Given the description of an element on the screen output the (x, y) to click on. 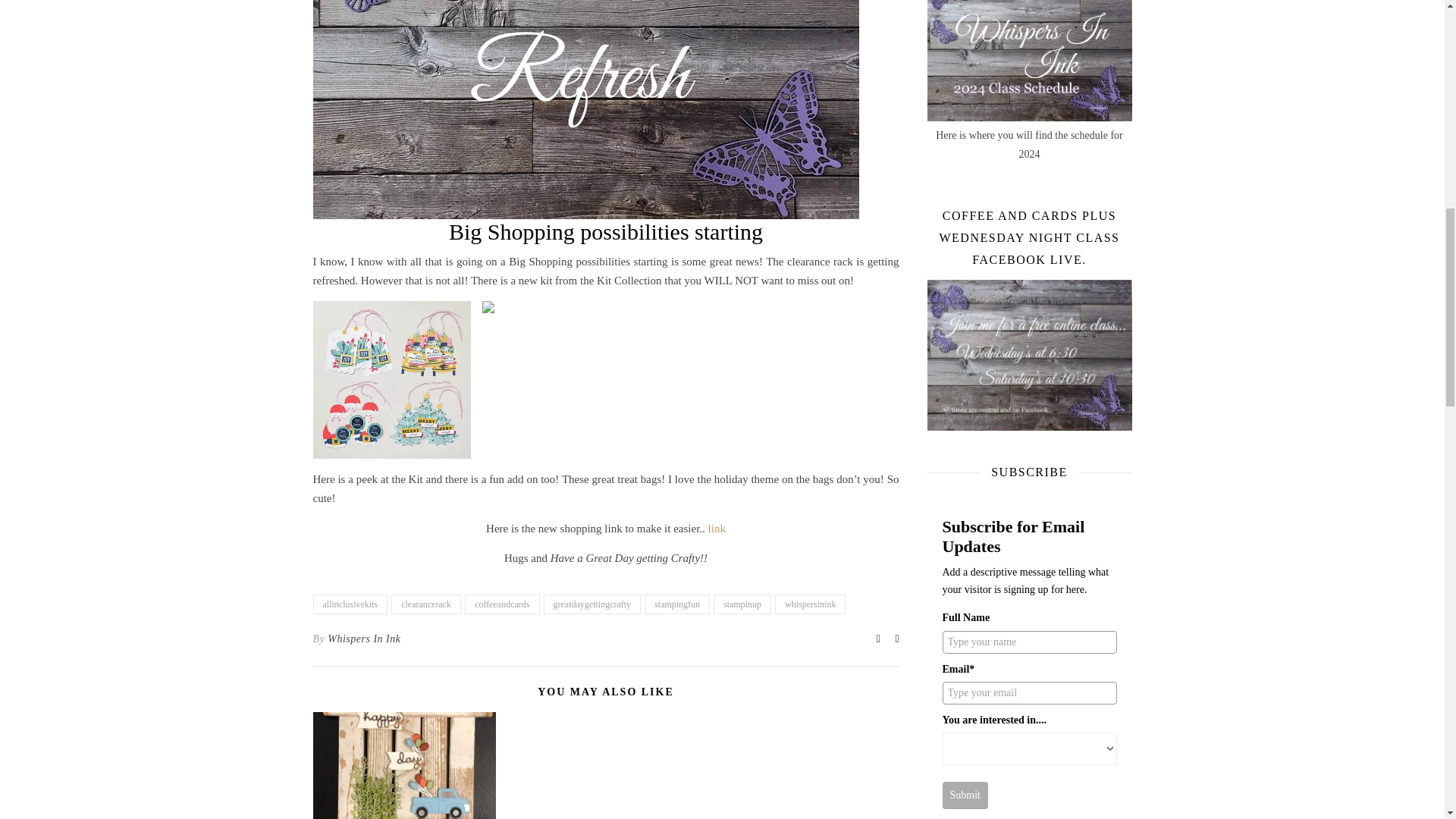
Posts by Whispers In Ink (363, 639)
greatdaygettingcrafty (591, 604)
stampinup (742, 604)
clearancerack (426, 604)
coffeeandcards (501, 604)
whispersinink (809, 604)
Whispers In Ink (363, 639)
link (716, 528)
Submit (964, 795)
allinclusivekits (350, 604)
stampingfun (677, 604)
